Given the description of an element on the screen output the (x, y) to click on. 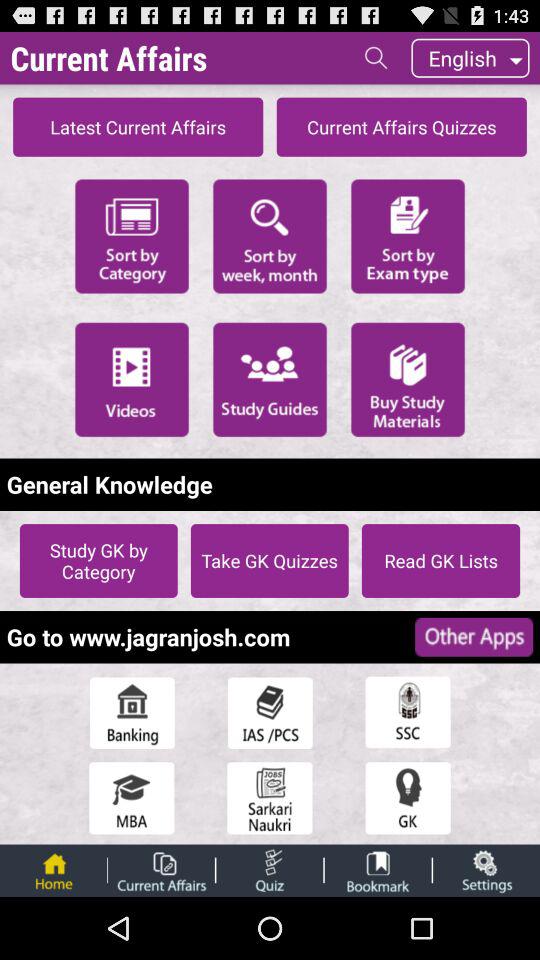
return home (53, 870)
